Given the description of an element on the screen output the (x, y) to click on. 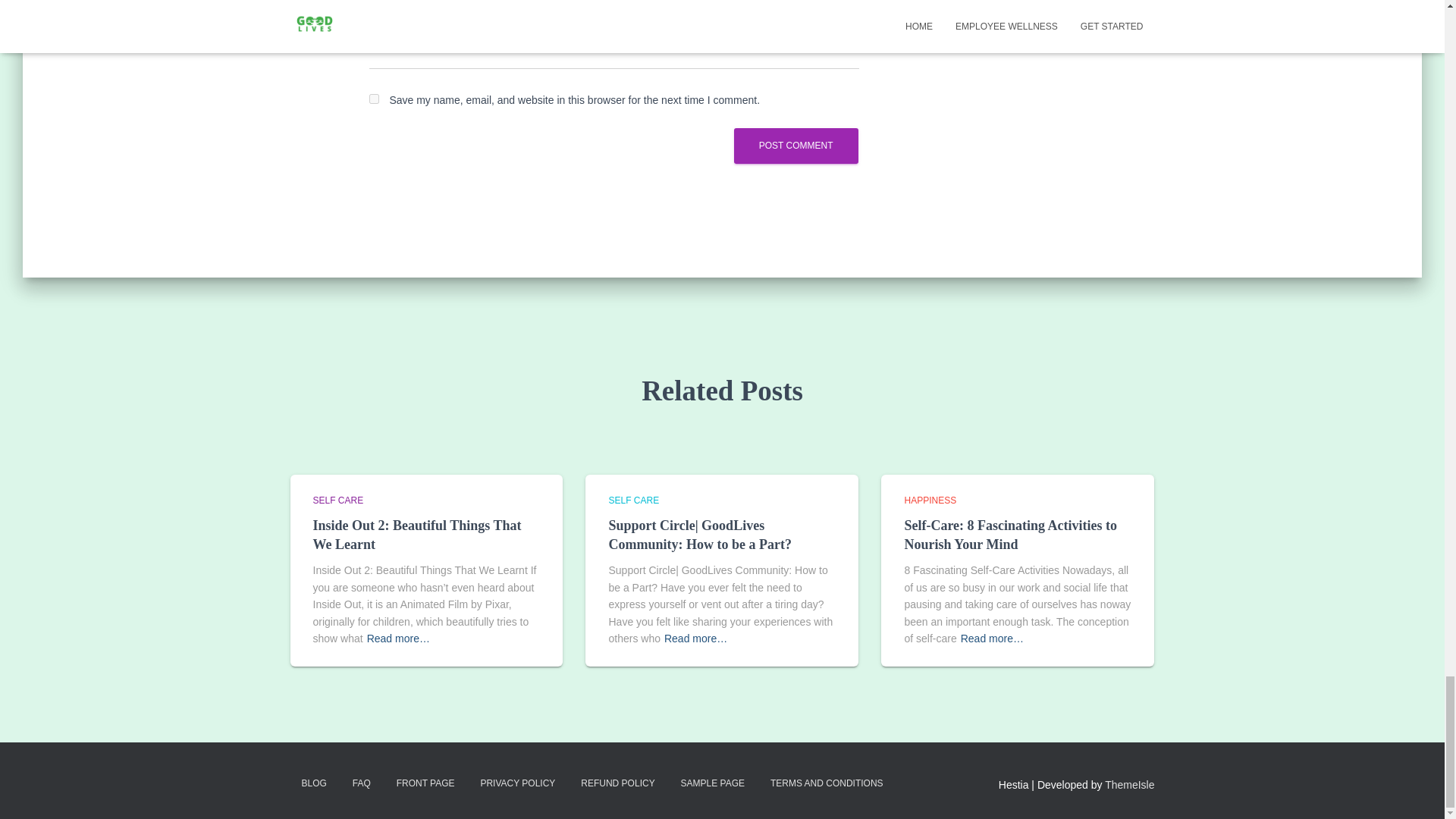
View all posts in Self Care (337, 500)
Inside Out 2: Beautiful Things That We Learnt (417, 534)
SELF CARE (337, 500)
yes (373, 99)
View all posts in Self Care (633, 500)
Self-Care: 8 Fascinating Activities to Nourish Your Mind (1010, 534)
Post Comment (796, 145)
View all posts in happiness (930, 500)
Inside Out 2: Beautiful Things That We Learnt (417, 534)
SELF CARE (633, 500)
